Given the description of an element on the screen output the (x, y) to click on. 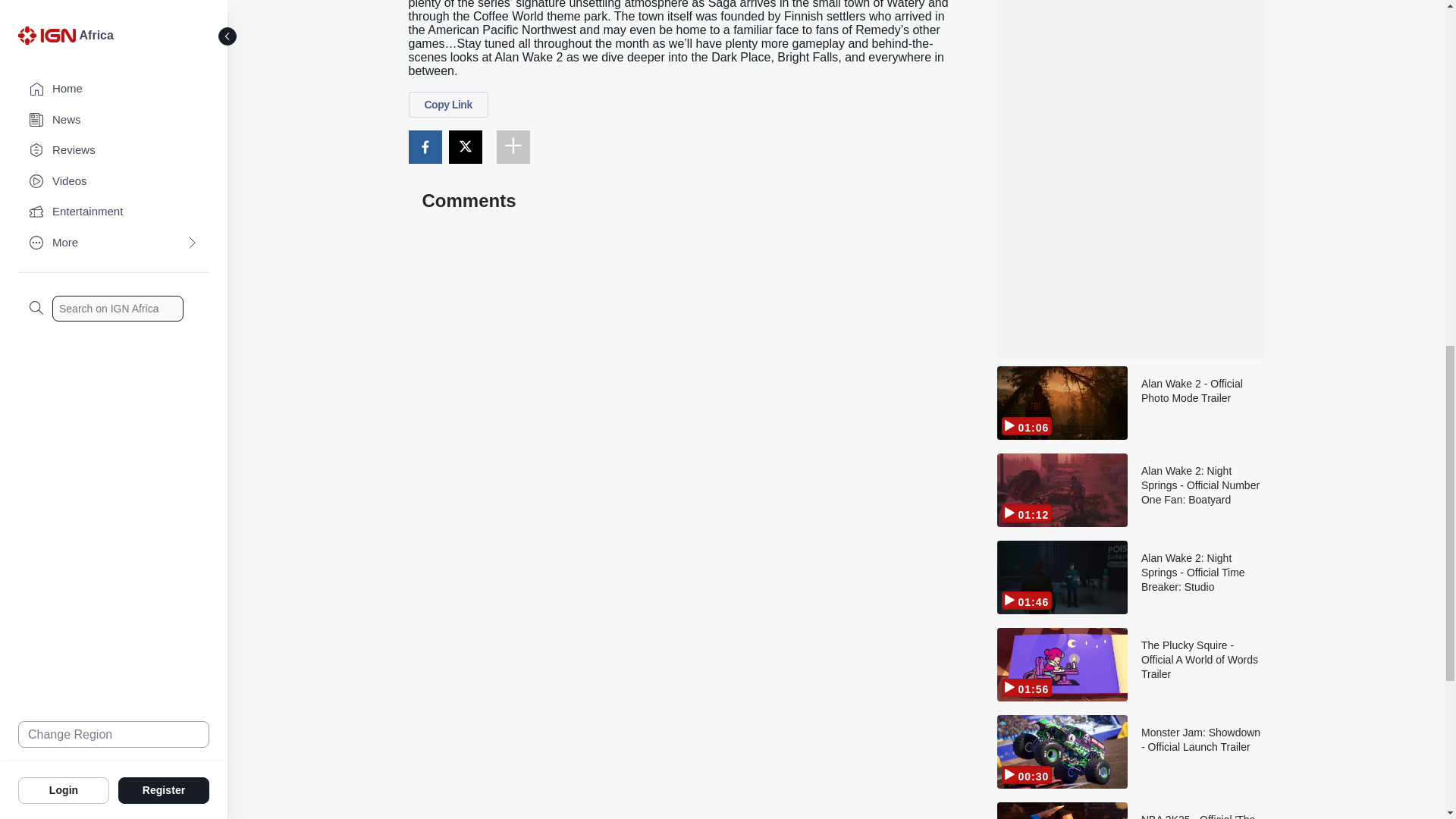
Copy Link (447, 104)
Alan Wake 2 - Official Photo Mode Trailer (1202, 402)
01:12 (1060, 490)
01:46 (1060, 577)
01:06 (1060, 402)
